Given the description of an element on the screen output the (x, y) to click on. 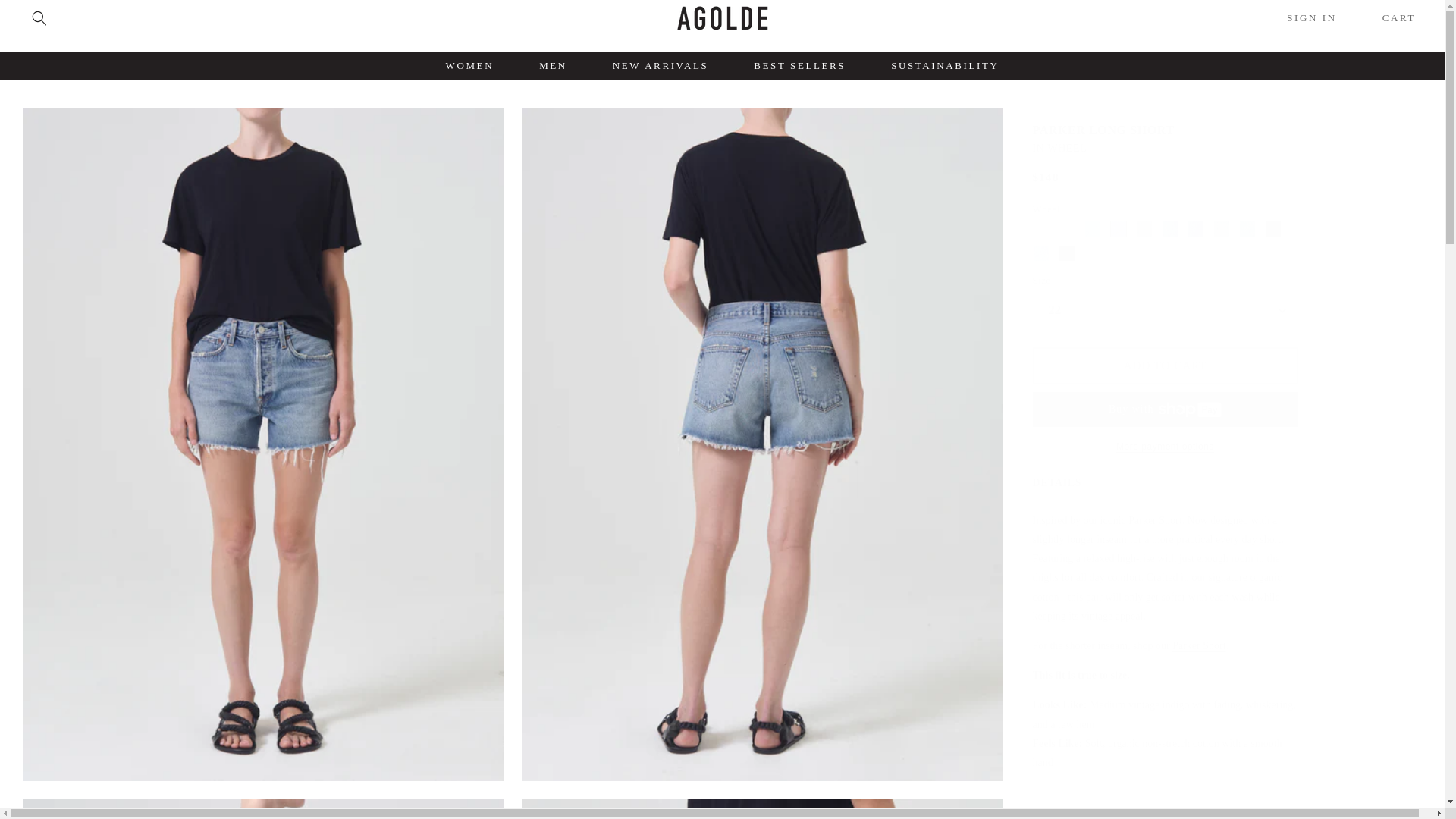
parker short cut off (1198, 645)
Skip to content (46, 18)
Open media 3 in modal (263, 809)
Open media 4 in modal (762, 809)
